Given the description of an element on the screen output the (x, y) to click on. 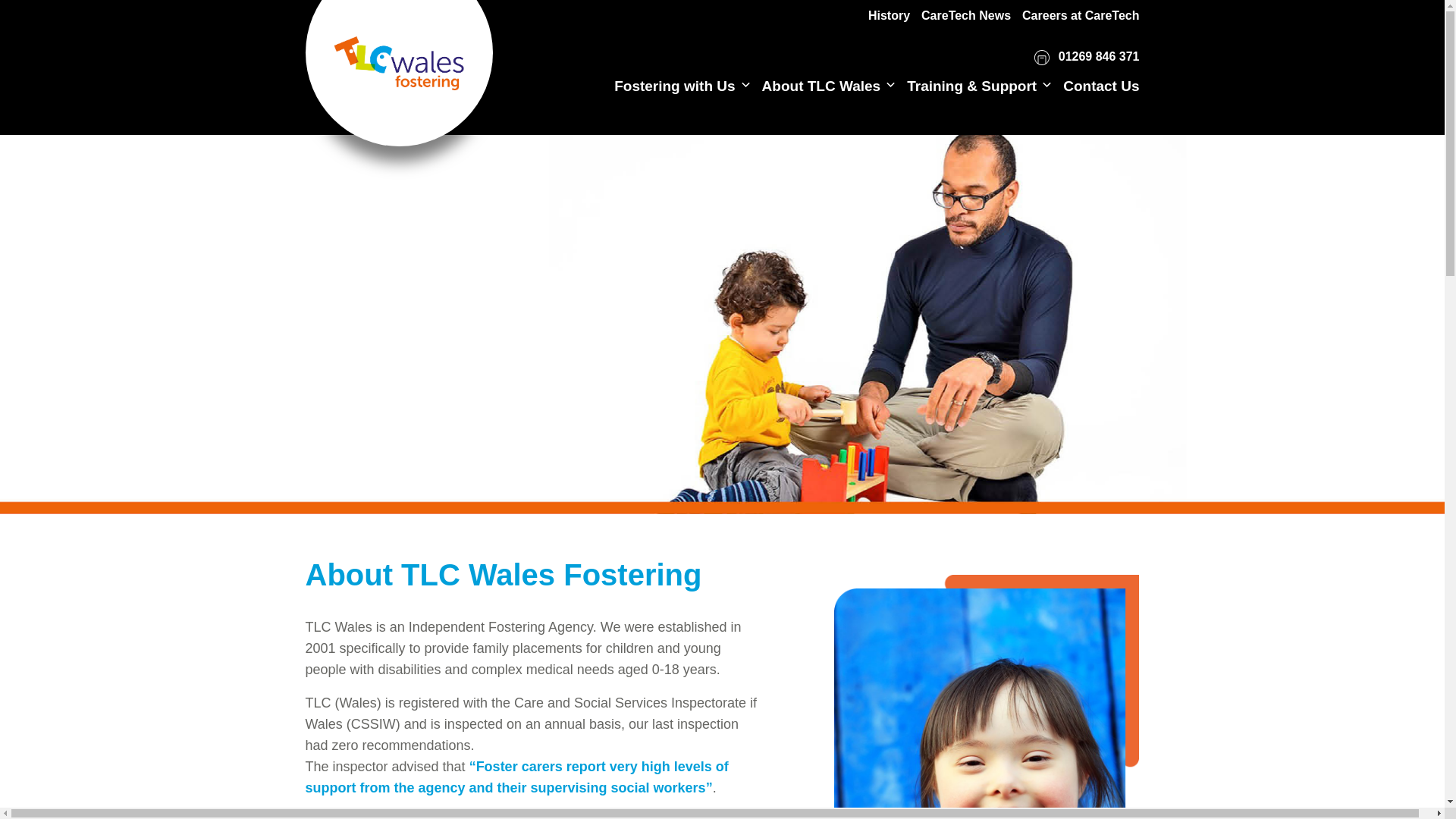
History (888, 15)
About TLC Wales (820, 85)
Careers at CareTech (1080, 15)
Fostering with Us (674, 85)
TLC Wales (398, 59)
Contact Us (1100, 85)
Careers at CareTech (1080, 15)
CareTech News (965, 15)
01269 846 371 (1085, 58)
History (888, 15)
